Given the description of an element on the screen output the (x, y) to click on. 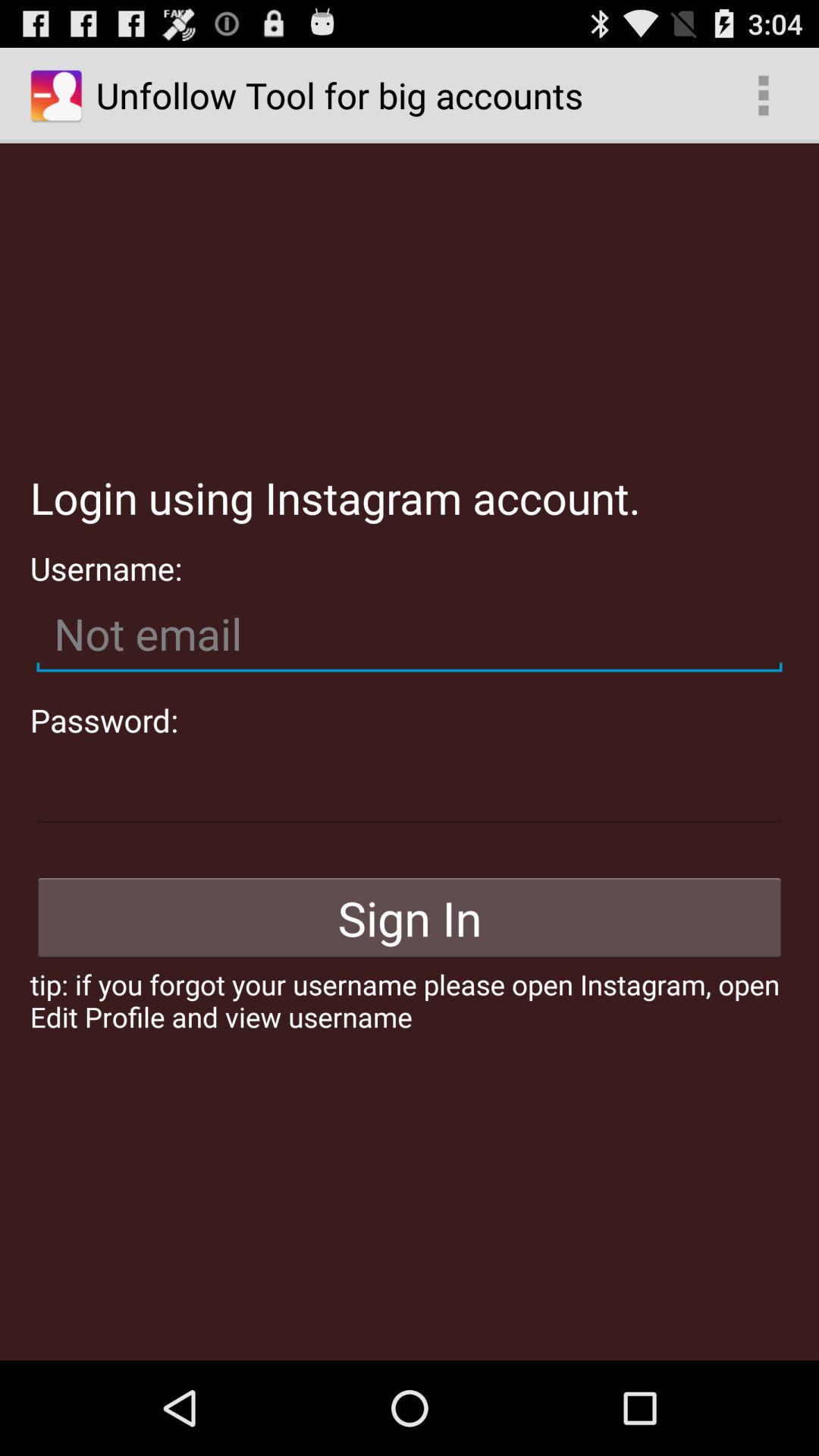
password field (409, 785)
